Given the description of an element on the screen output the (x, y) to click on. 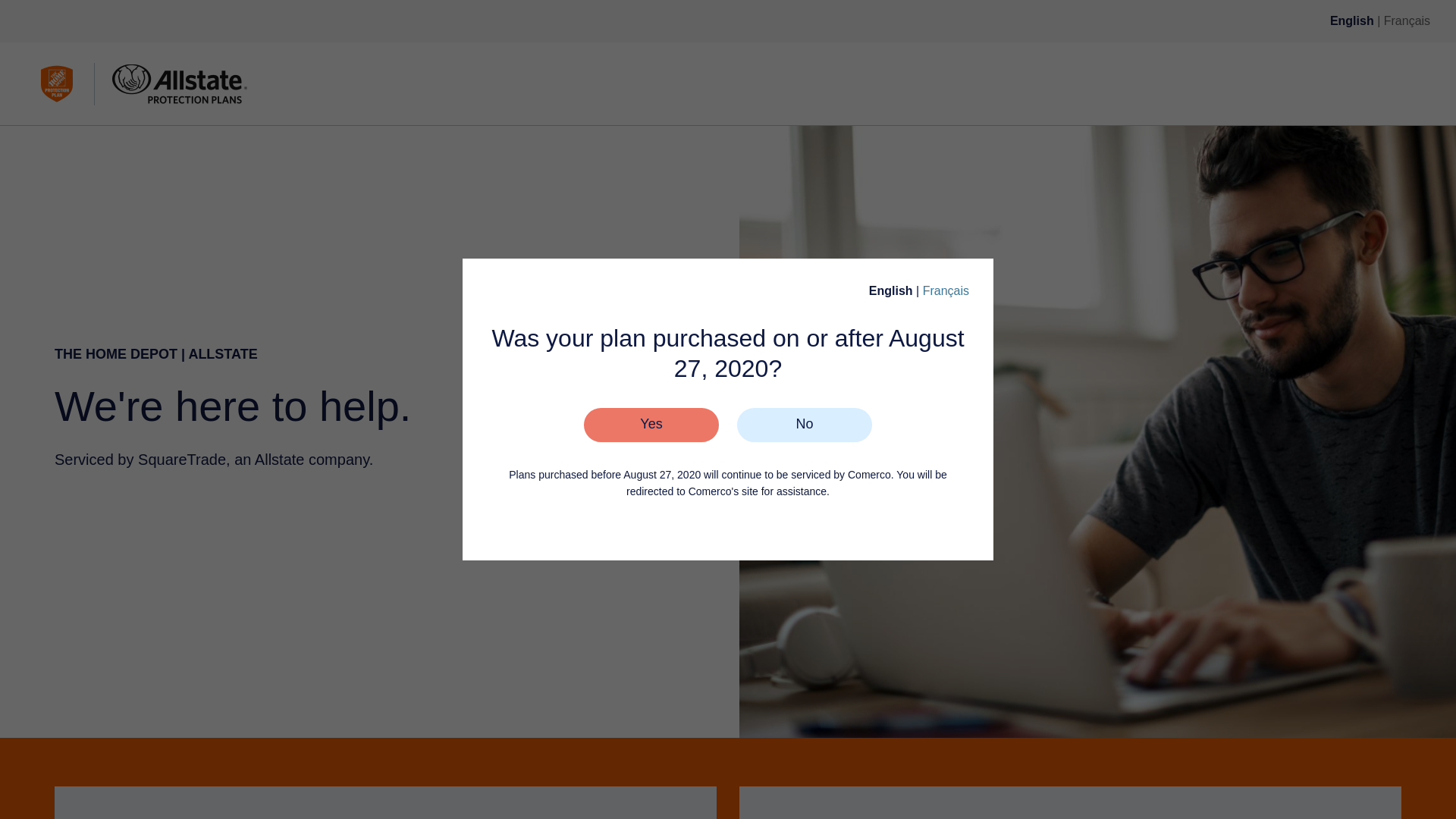
No (804, 424)
Yes (651, 424)
